Given the description of an element on the screen output the (x, y) to click on. 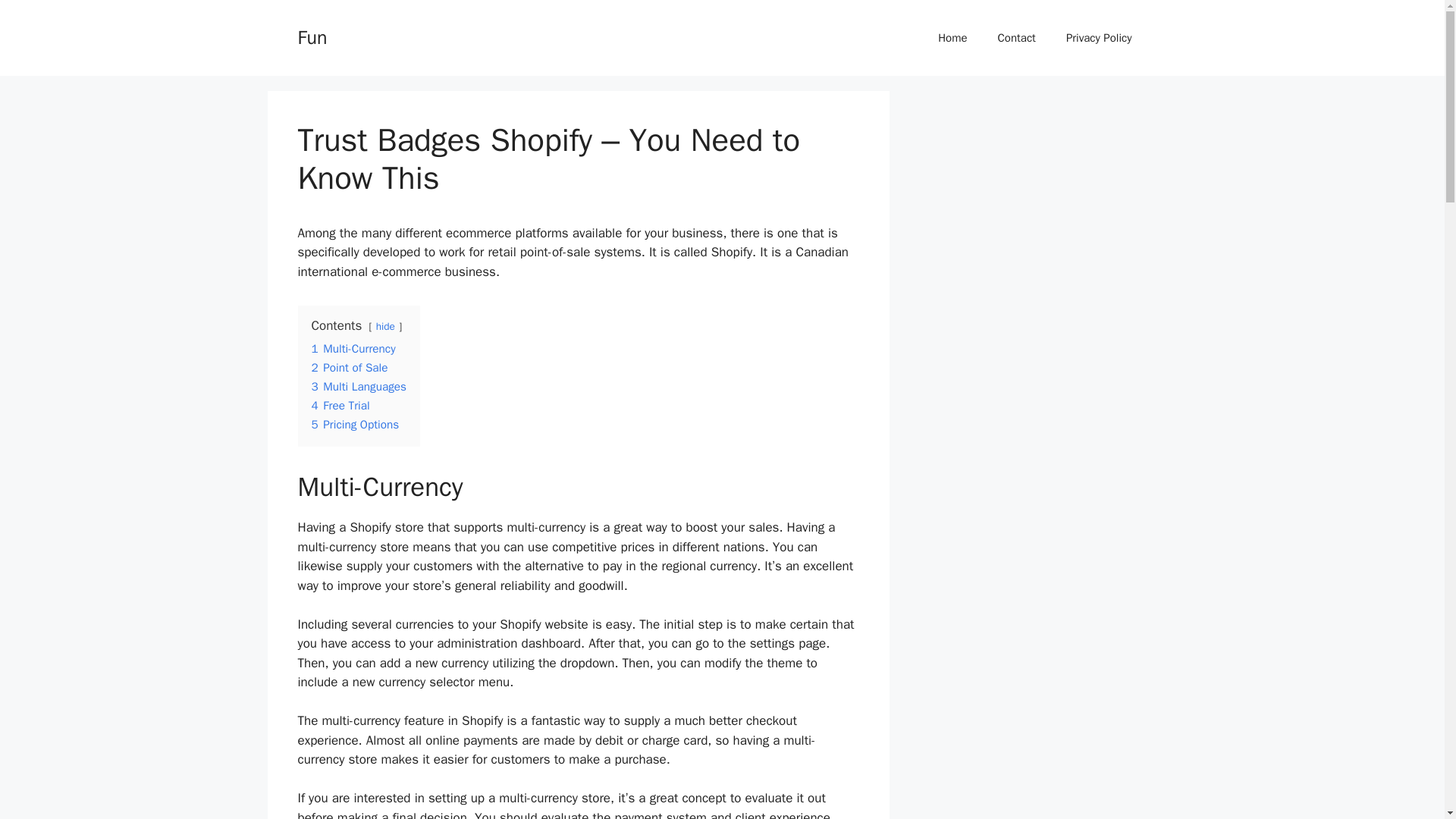
5 Pricing Options (354, 424)
Home (952, 37)
hide (384, 326)
1 Multi-Currency (352, 348)
4 Free Trial (340, 405)
3 Multi Languages (358, 386)
2 Point of Sale (349, 367)
Contact (1016, 37)
Privacy Policy (1099, 37)
Fun (311, 37)
